Given the description of an element on the screen output the (x, y) to click on. 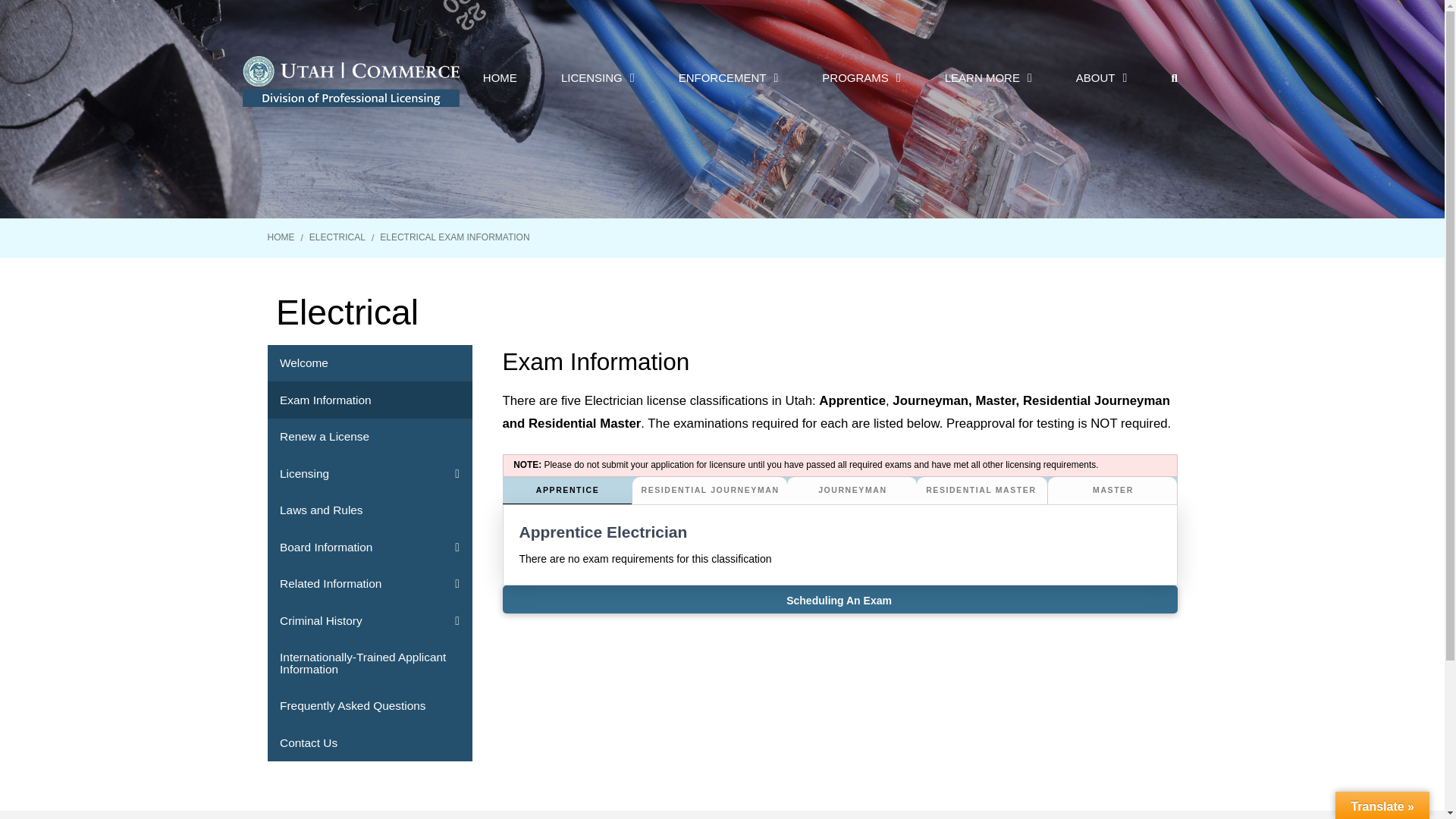
LEARN MORE (988, 77)
HOME (280, 237)
You Are Here (454, 237)
Welcome (368, 363)
PROGRAMS (860, 77)
LICENSING (597, 77)
ABOUT (1101, 77)
ELECTRICAL EXAM INFORMATION (454, 237)
Renew a License (368, 436)
ELECTRICAL (336, 237)
ENFORCEMENT (728, 77)
HOME (499, 77)
Exam Information (368, 399)
